Given the description of an element on the screen output the (x, y) to click on. 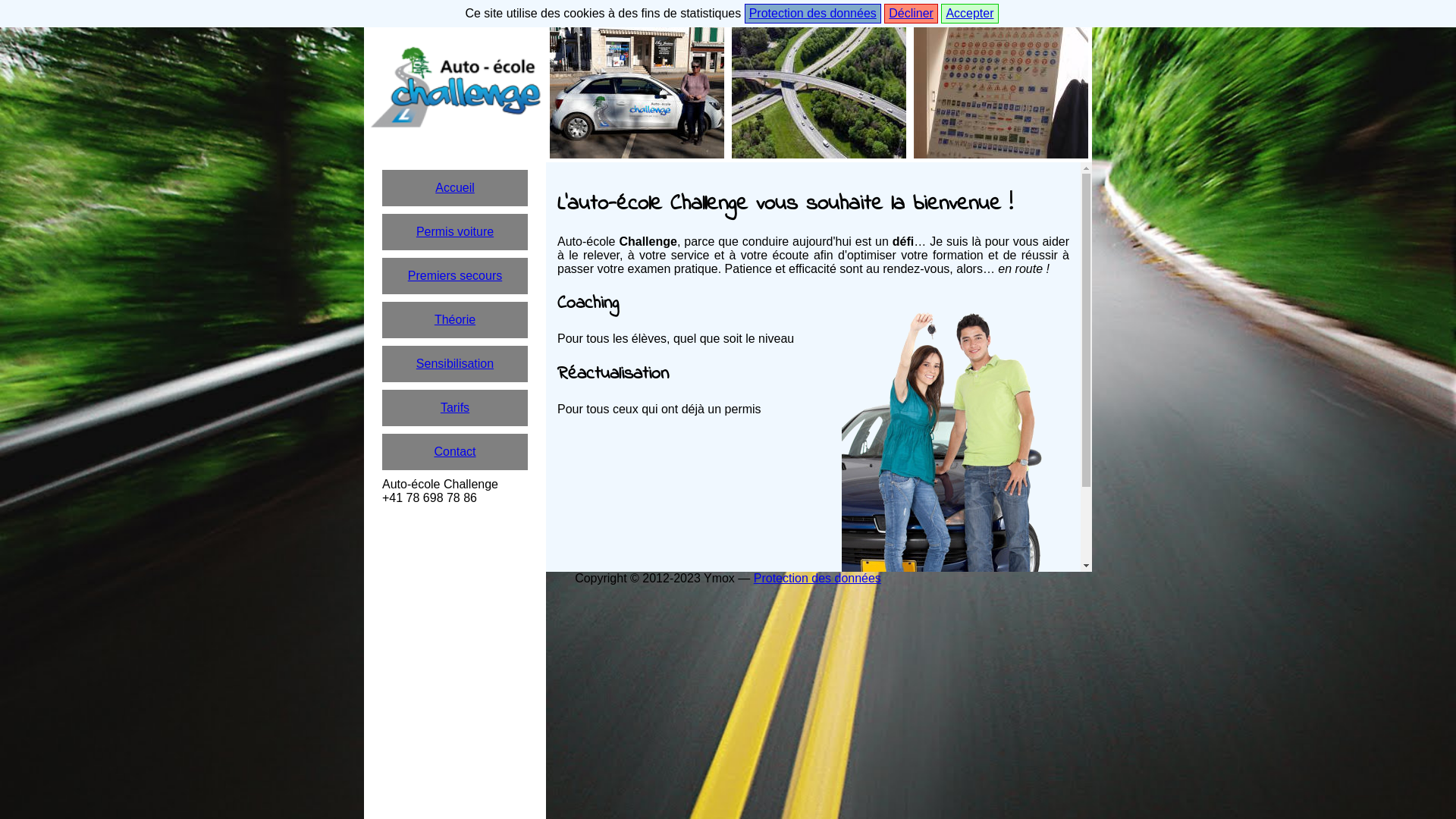
Accueil Element type: text (454, 187)
Permis voiture Element type: text (454, 231)
Tarifs Element type: text (454, 407)
Sensibilisation Element type: text (454, 363)
Accepter Element type: text (969, 13)
Premiers secours Element type: text (454, 275)
Contact Element type: text (454, 451)
